Given the description of an element on the screen output the (x, y) to click on. 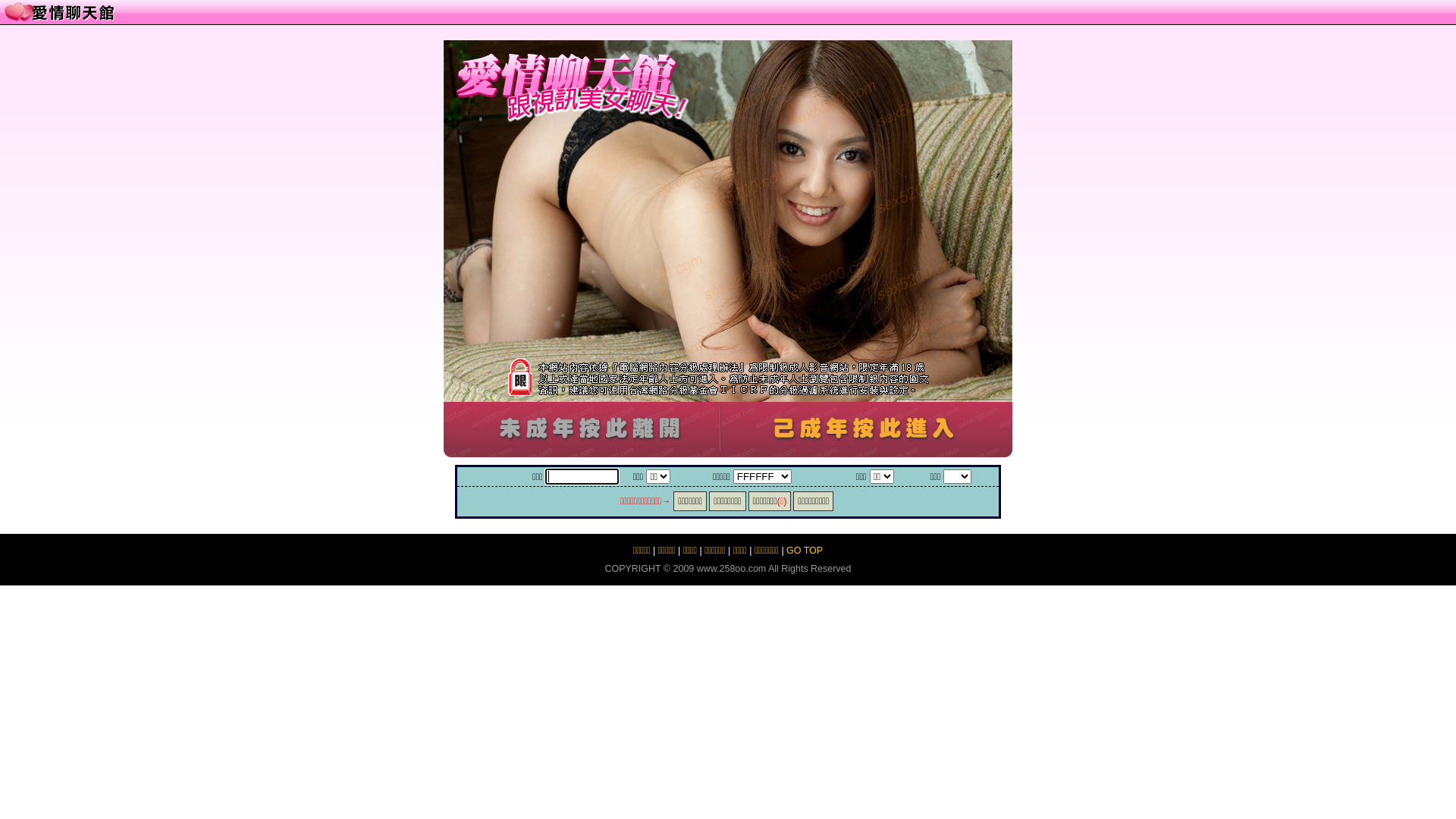
GO TOP Element type: text (804, 550)
www.258oo.com Element type: text (730, 568)
